Given the description of an element on the screen output the (x, y) to click on. 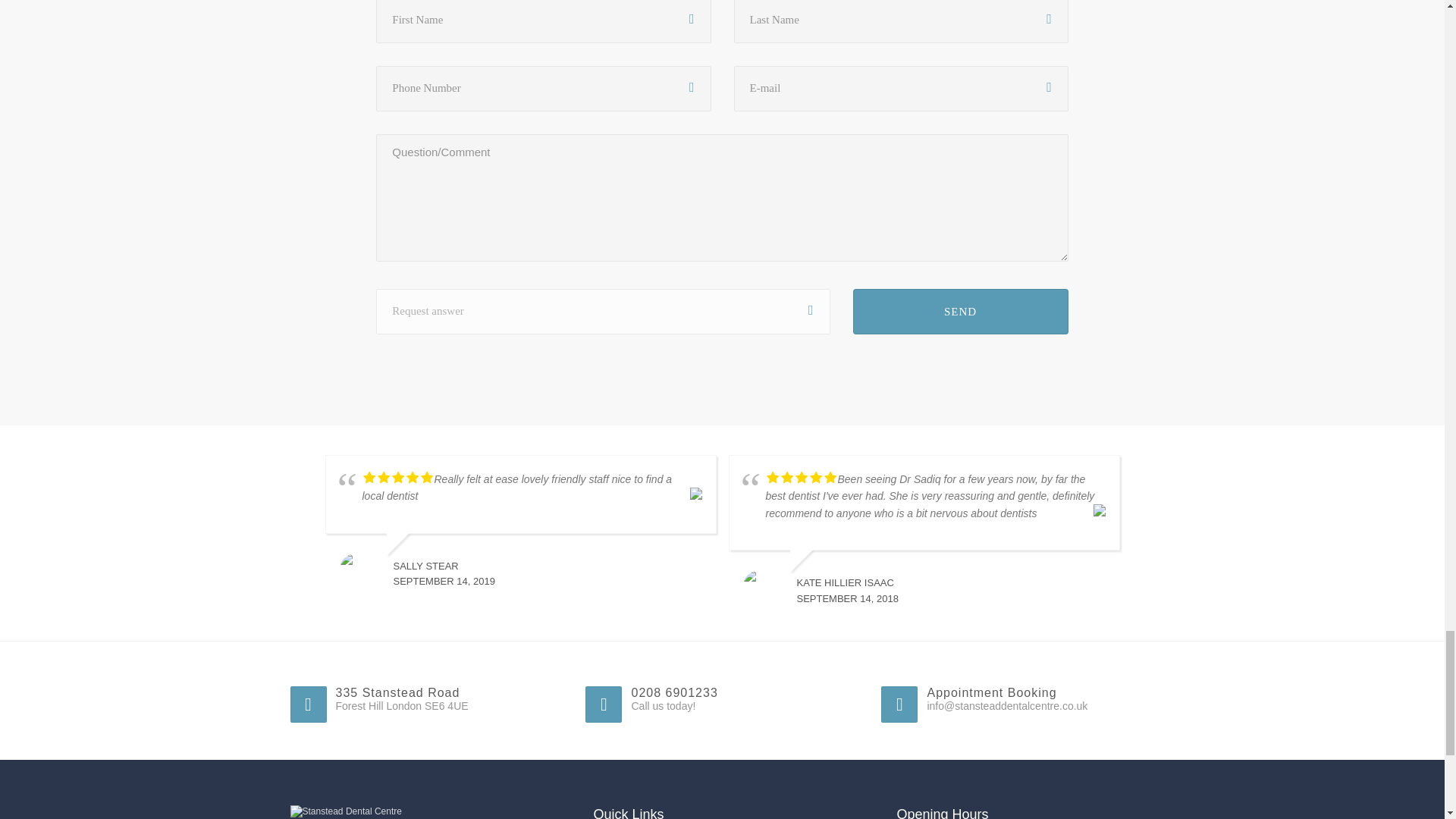
Send (960, 311)
